Given the description of an element on the screen output the (x, y) to click on. 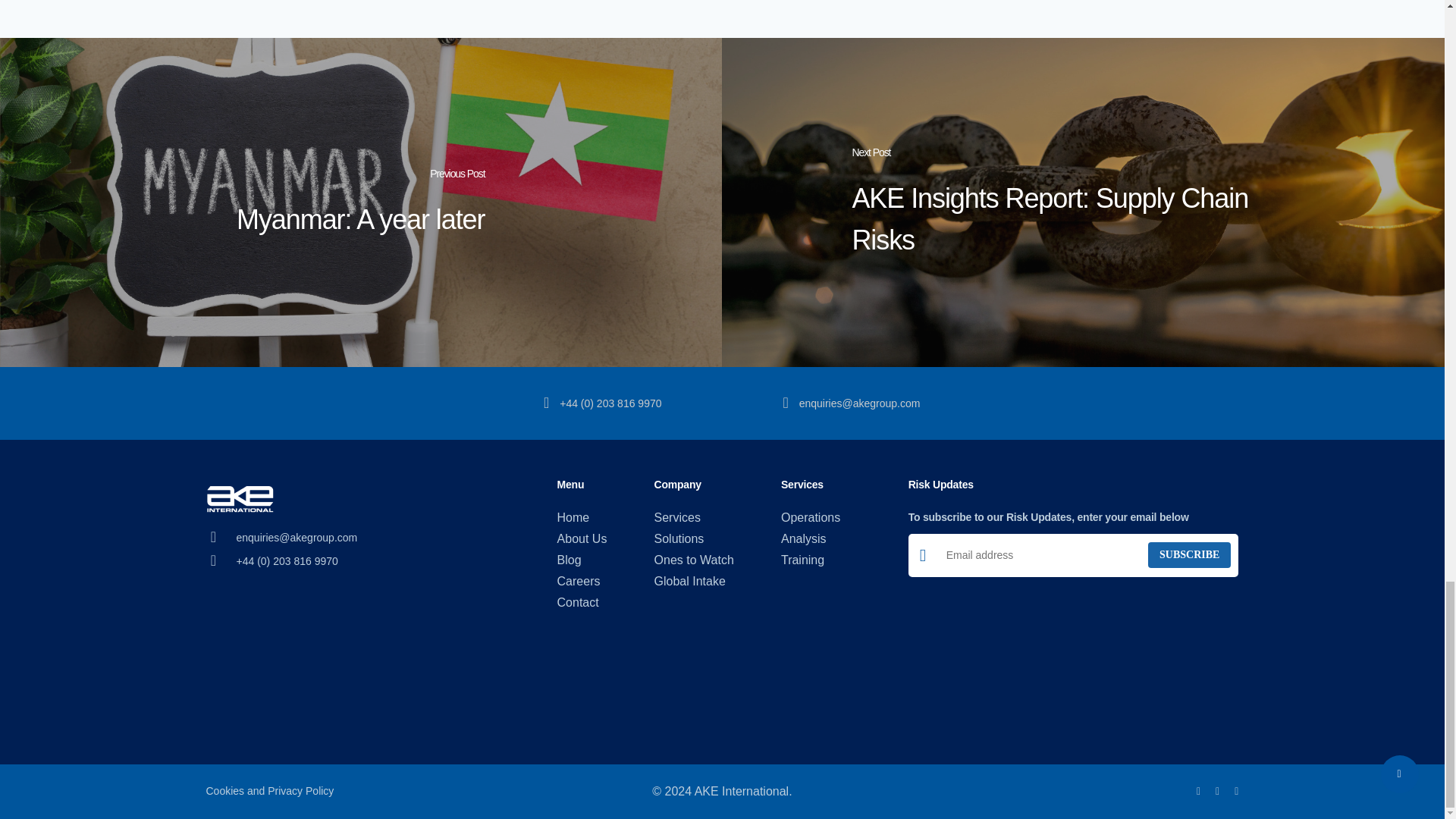
About Us (582, 538)
SUBSCRIBE (1189, 555)
Blog (582, 559)
Home (582, 516)
